Given the description of an element on the screen output the (x, y) to click on. 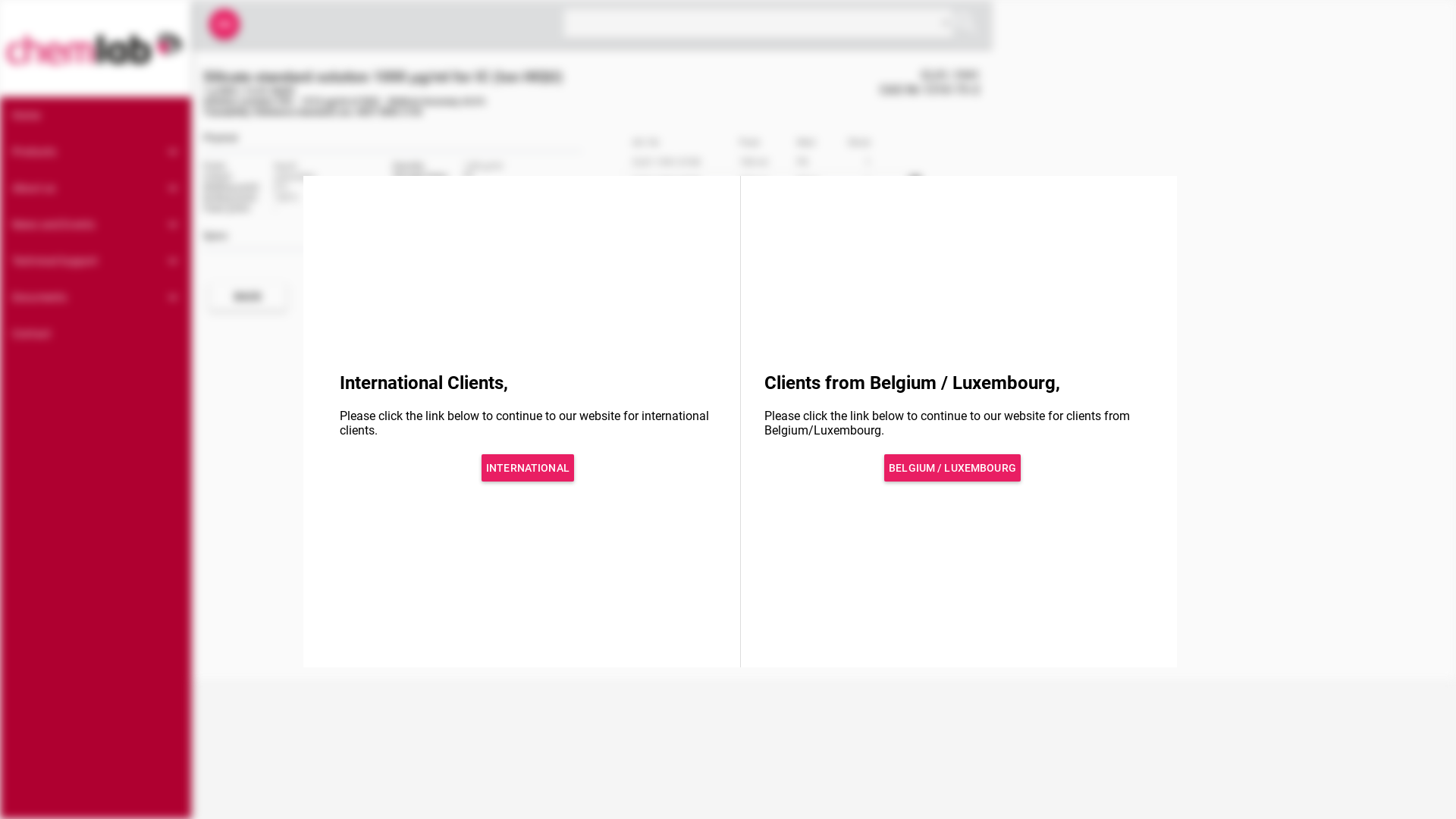
BELGIUM / LUXEMBOURG Element type: text (952, 467)
INTERNATIONAL Element type: text (527, 467)
TDS Element type: text (936, 296)
SDS Element type: text (965, 296)
EN Element type: text (224, 24)
Chem-Lab Element type: hover (95, 48)
COA Element type: text (906, 296)
BACK Element type: text (247, 296)
